Given the description of an element on the screen output the (x, y) to click on. 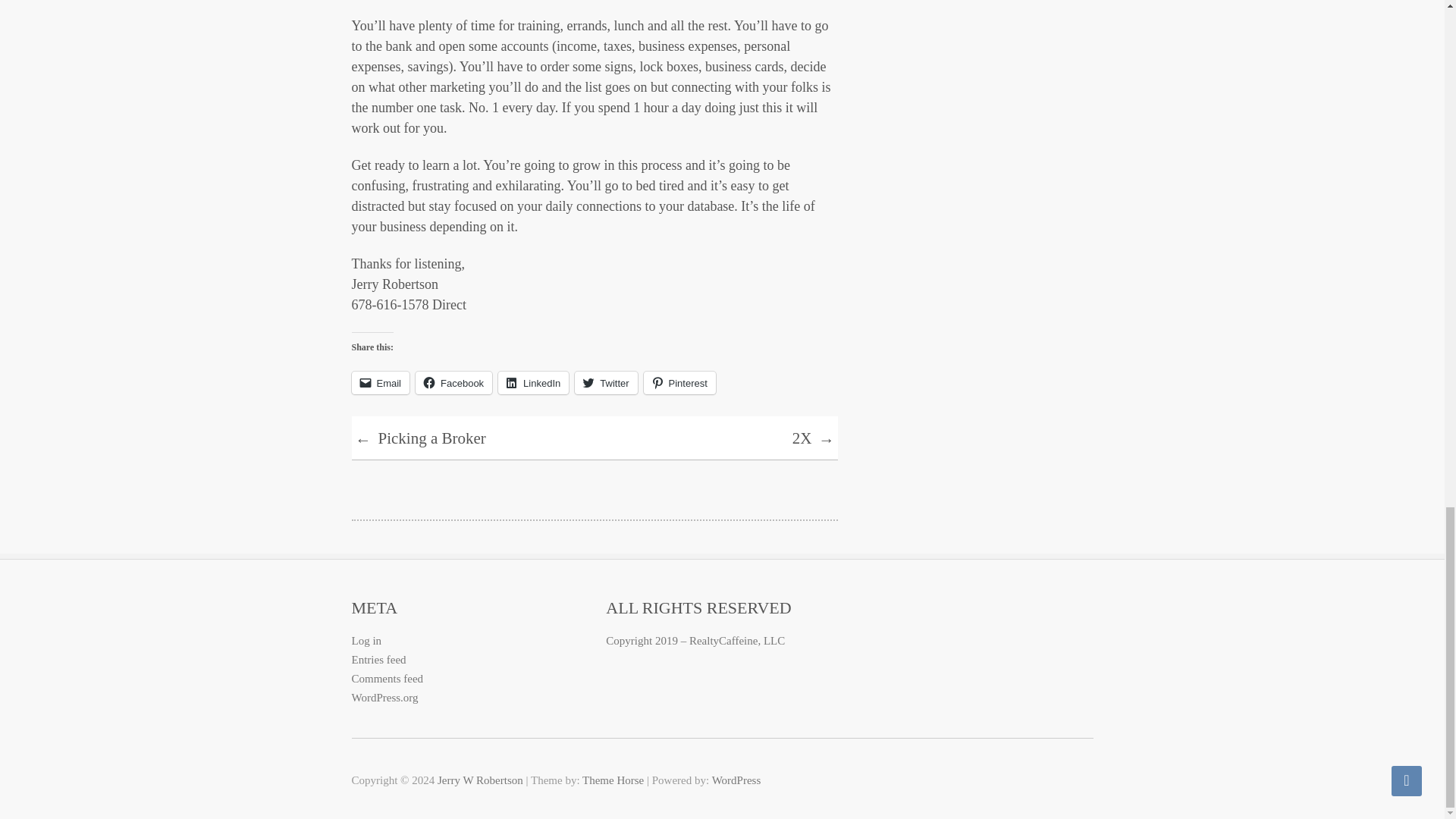
Facebook (453, 382)
Pinterest (679, 382)
Click to email a link to a friend (381, 382)
Click to share on Facebook (453, 382)
Email (381, 382)
WordPress (736, 779)
WordPress.org (385, 697)
Log in (366, 640)
Entries feed (379, 659)
WordPress (736, 779)
